Given the description of an element on the screen output the (x, y) to click on. 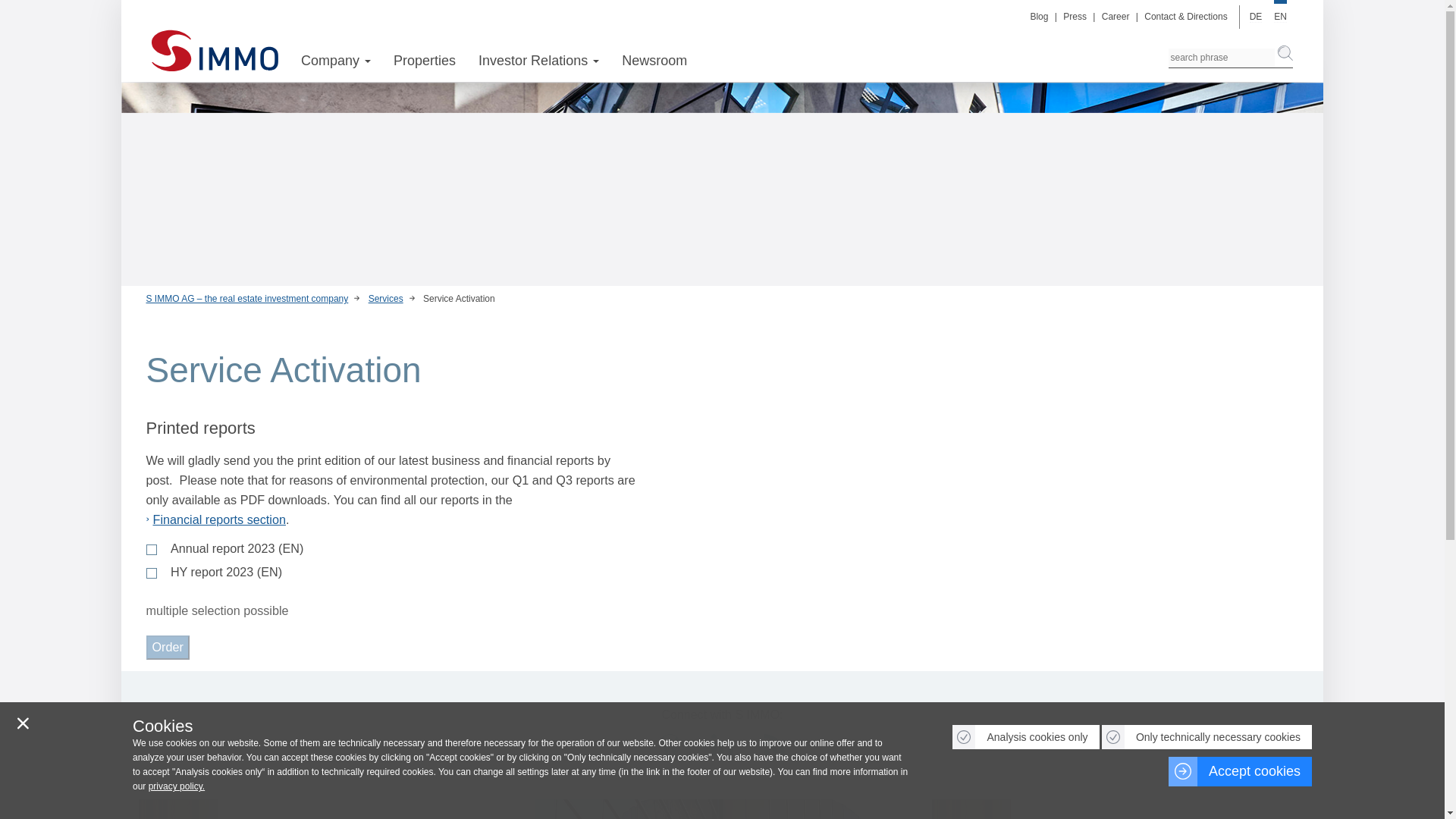
Order (167, 647)
Blog (1040, 16)
Properties (424, 61)
S IMMO AG Logo (214, 54)
English (1280, 16)
Company (336, 61)
DE (1255, 16)
Investor Relations (538, 61)
Career (1116, 16)
Press (1076, 16)
